Given the description of an element on the screen output the (x, y) to click on. 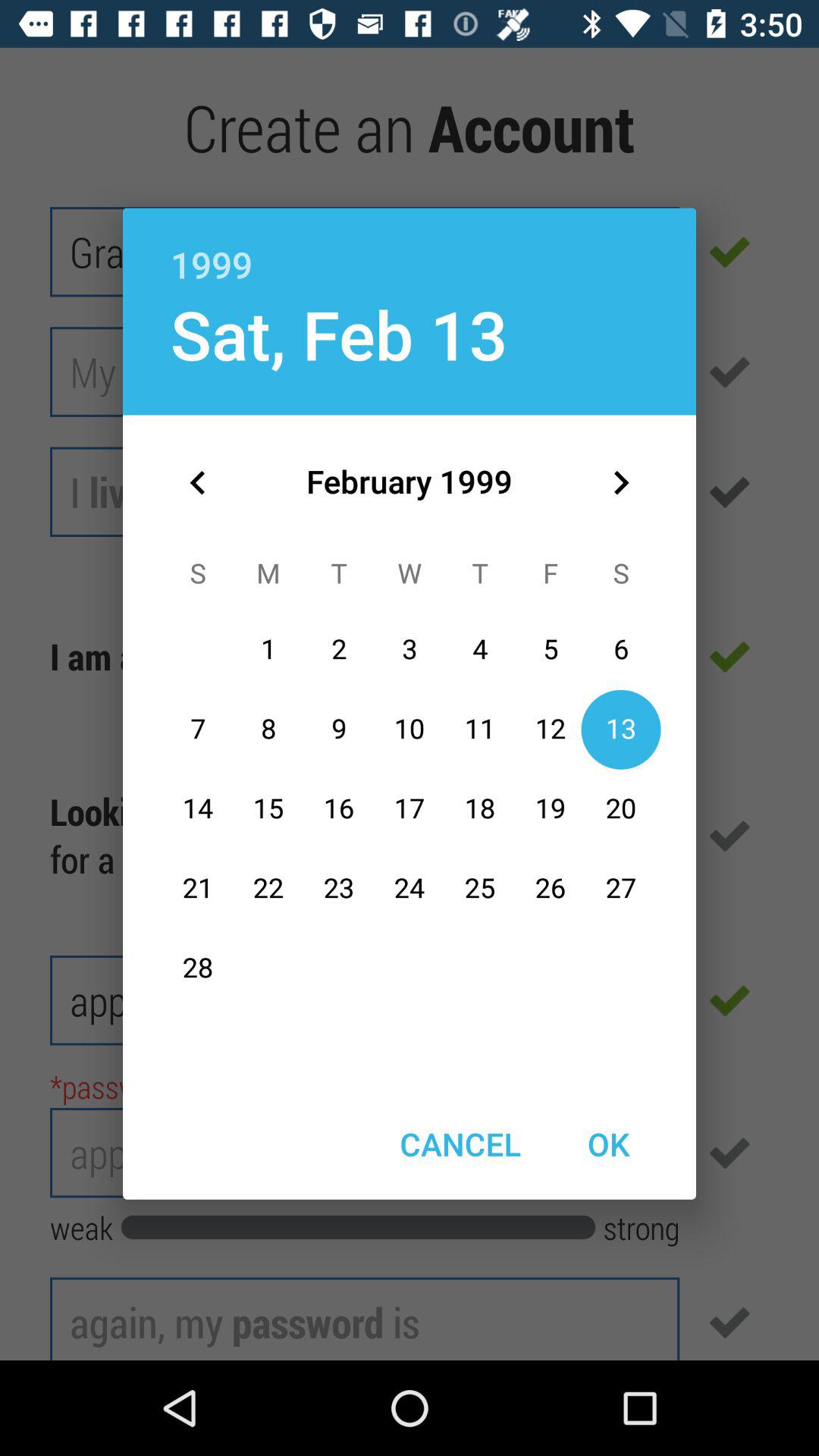
jump until ok icon (608, 1143)
